Given the description of an element on the screen output the (x, y) to click on. 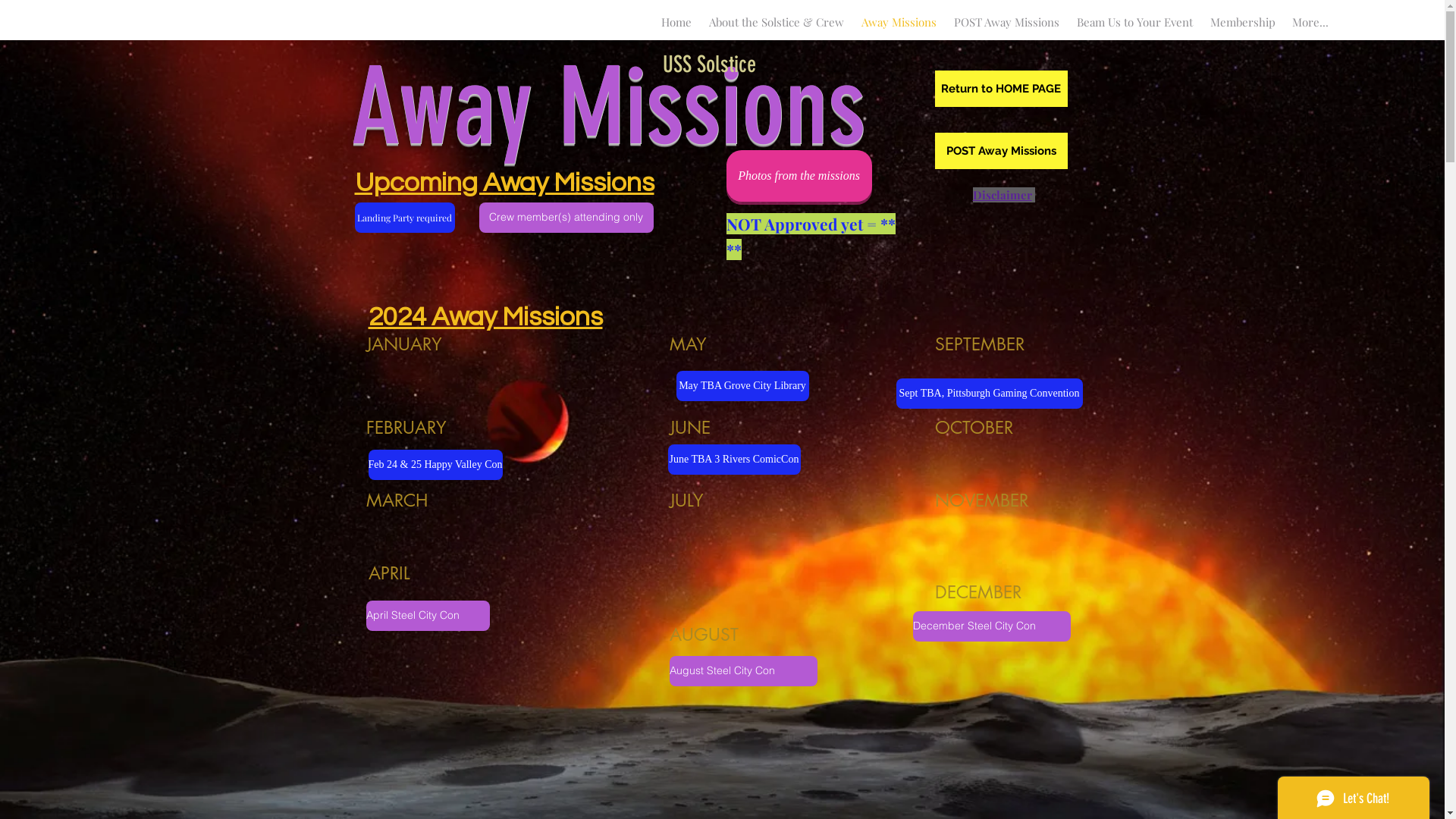
Home Element type: text (675, 21)
About the Solstice & Crew Element type: text (775, 21)
Away Missions Element type: text (898, 21)
Feb 24 & 25 Happy Valley Con Element type: text (435, 464)
Disclaimer Element type: text (1001, 194)
Photos from the missions Element type: text (799, 175)
August Steel City Con Element type: text (742, 670)
USS Solstice Element type: text (708, 63)
POST Away Missions Element type: text (1005, 21)
POST Away Missions Element type: text (1000, 150)
Return to HOME PAGE Element type: text (1000, 88)
December Steel City Con Element type: text (991, 626)
April Steel City Con Element type: text (427, 615)
